Given the description of an element on the screen output the (x, y) to click on. 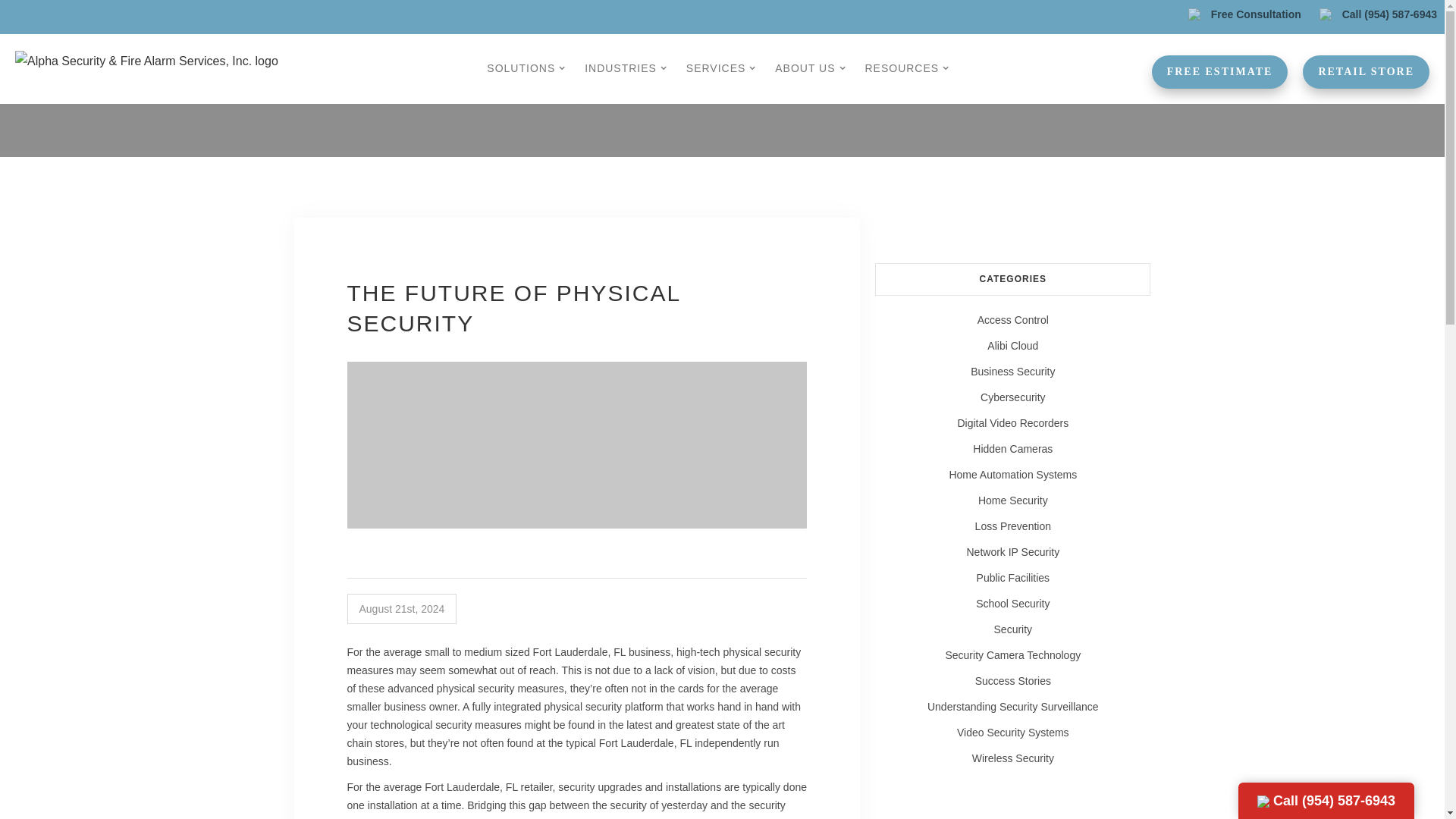
View all posts filed under Security Camera Technology (1012, 655)
View all posts filed under Cybersecurity (1012, 397)
View all posts filed under Loss Prevention (1012, 525)
View all posts filed under Network IP Security (1012, 551)
View all posts filed under Video Security Systems (1012, 732)
Free Consultation (1244, 14)
View all posts filed under Business Security (1012, 371)
View all posts filed under Security (1012, 628)
View all posts filed under Home Automation Systems (1012, 475)
